Given the description of an element on the screen output the (x, y) to click on. 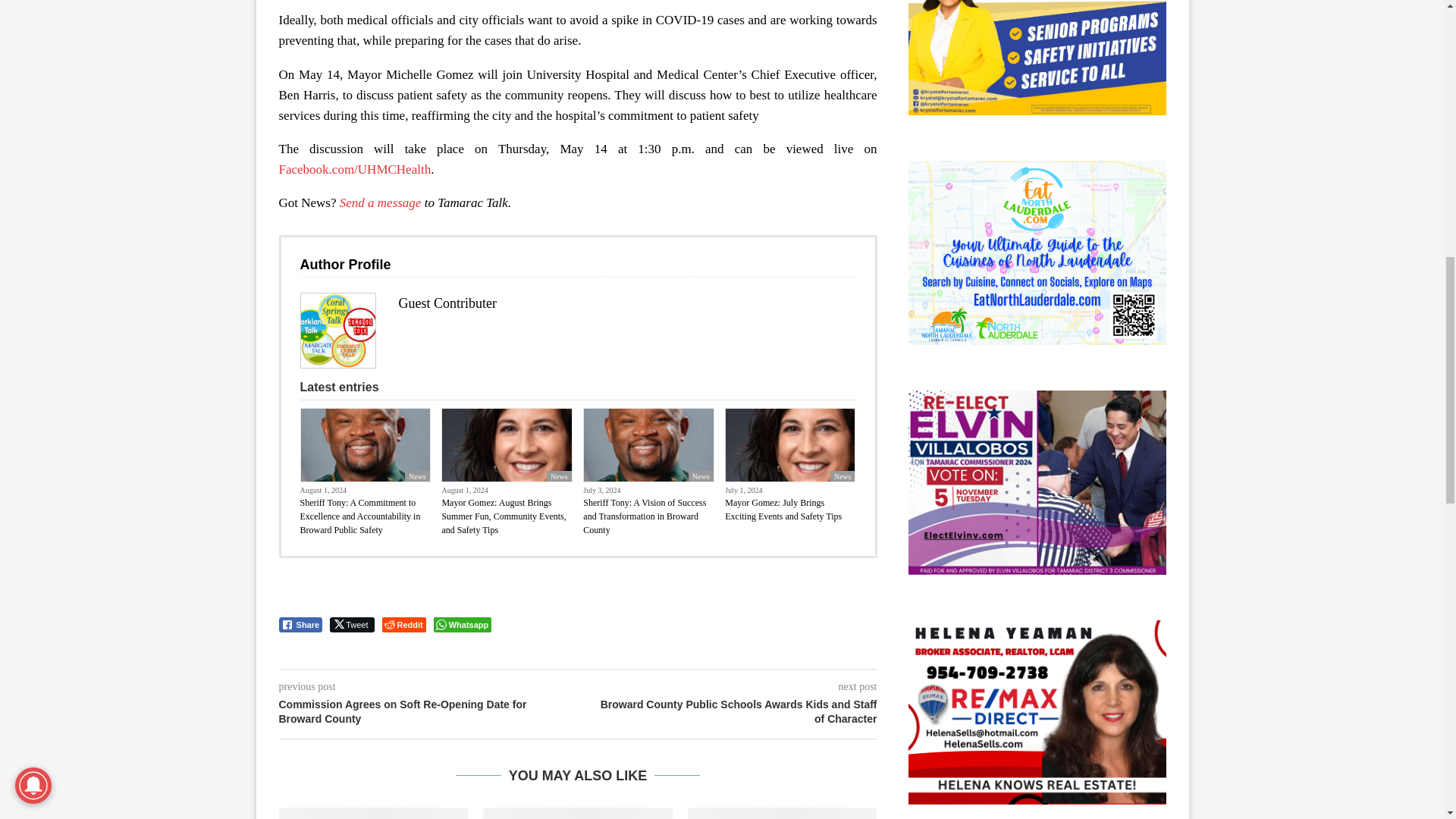
Tamarac Man Killed in Crash on I-75 (782, 813)
Mayor Gomez: July Brings Exciting Events and Safety Tips 5 (789, 444)
